Given the description of an element on the screen output the (x, y) to click on. 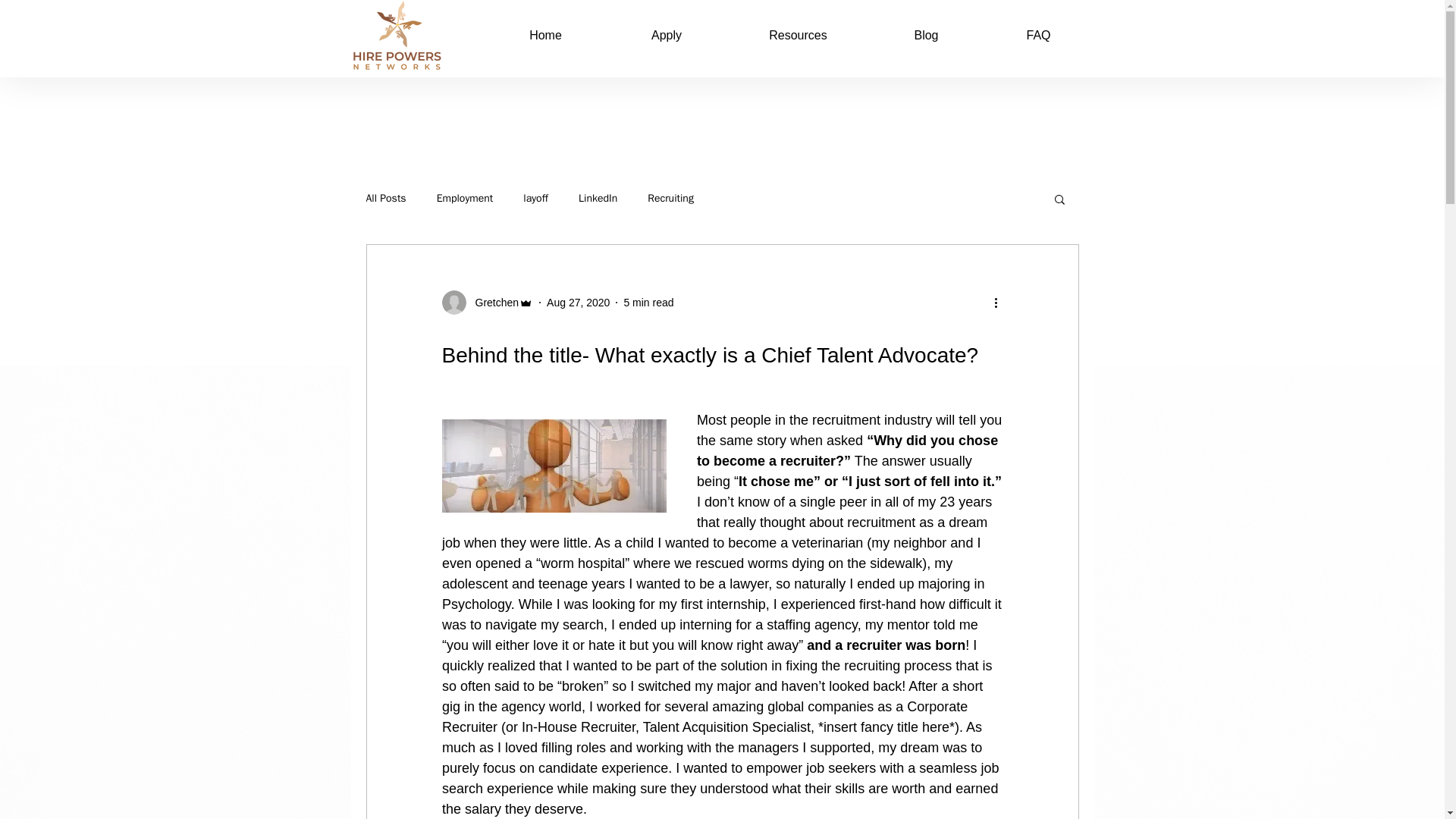
FAQ (1037, 35)
5 min read (647, 301)
Employment (464, 198)
All Posts (385, 198)
Aug 27, 2020 (578, 301)
Resources (797, 35)
Gretchen (491, 302)
Blog (925, 35)
Recruiting (670, 198)
layoff (535, 198)
LinkedIn (597, 198)
Apply (666, 35)
Gretchen (486, 302)
Home (545, 35)
